Given the description of an element on the screen output the (x, y) to click on. 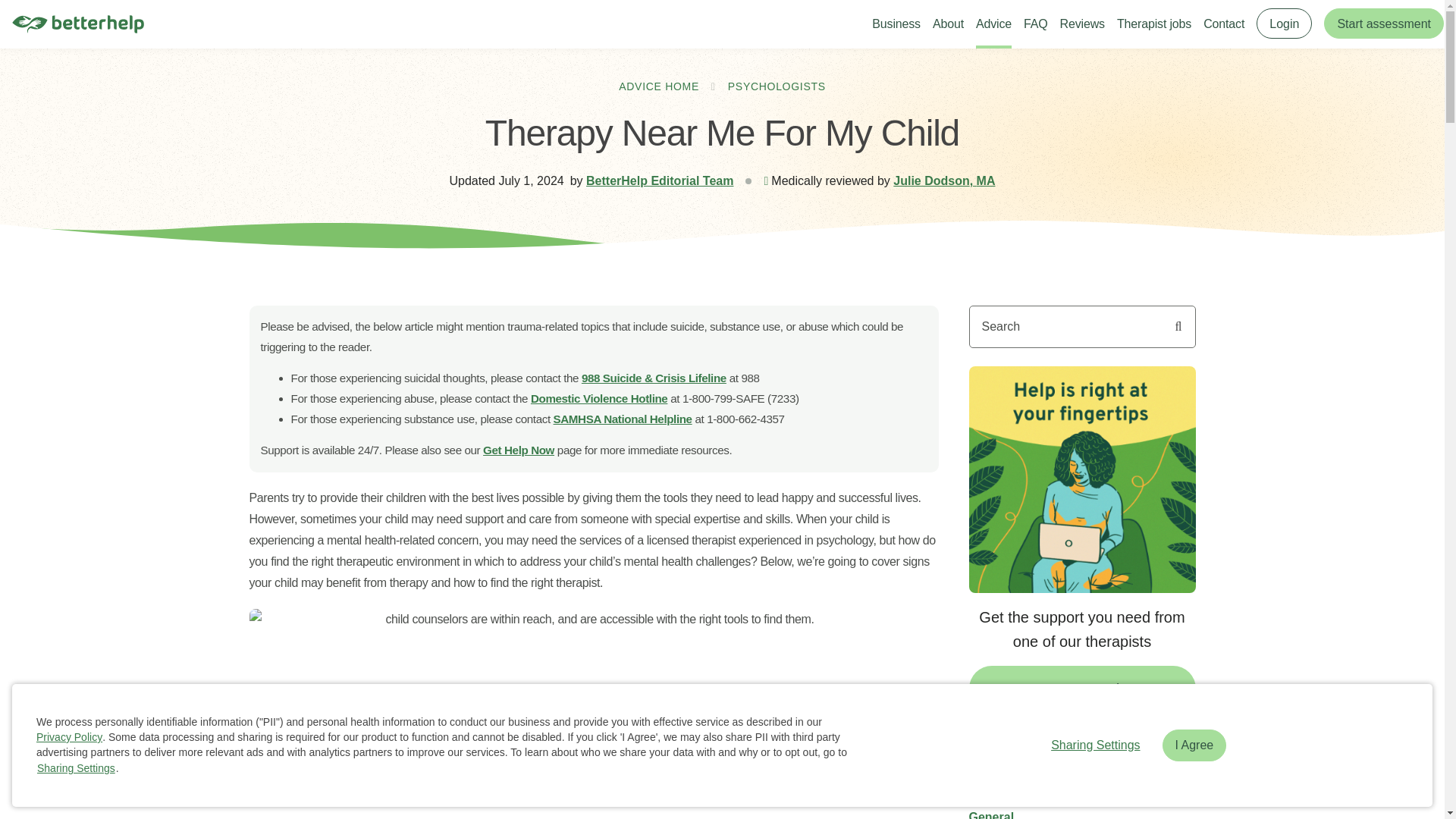
Therapist jobs (1153, 22)
Business (896, 22)
Psychologists (1010, 789)
ADVICE HOME (658, 86)
BetterHelp Editorial Team (659, 180)
Contact (1224, 22)
Reviews (1082, 22)
Start assessment (1383, 23)
Get started (1082, 688)
PSYCHOLOGISTS (776, 86)
Get Help Now (518, 449)
Login (1283, 23)
Login (1283, 24)
Domestic Violence Hotline (598, 398)
Start assessment (1383, 24)
